Given the description of an element on the screen output the (x, y) to click on. 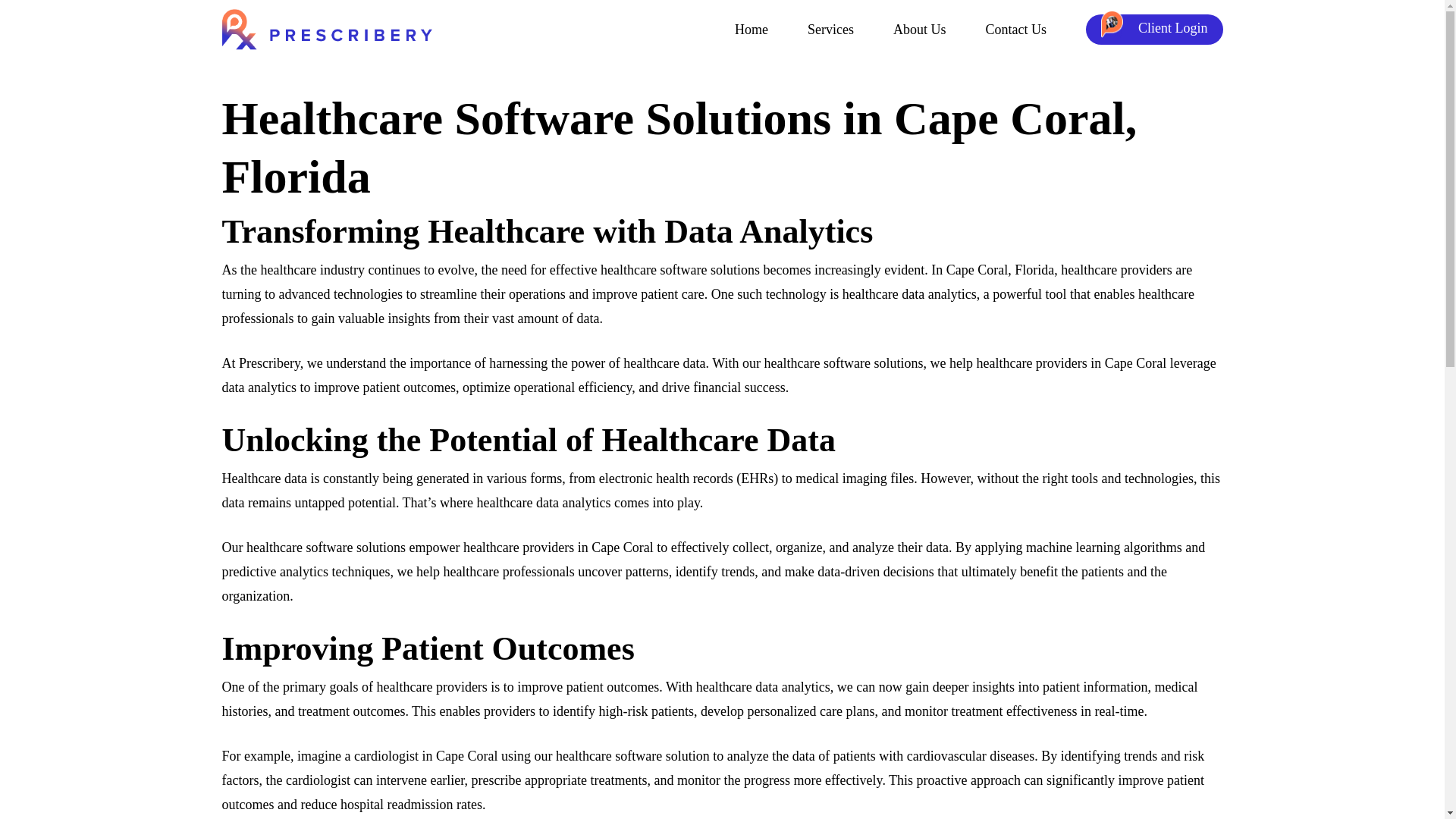
Client Login (1154, 29)
Home (751, 29)
About Us (919, 29)
Services (830, 29)
Contact Us (1015, 29)
